Given the description of an element on the screen output the (x, y) to click on. 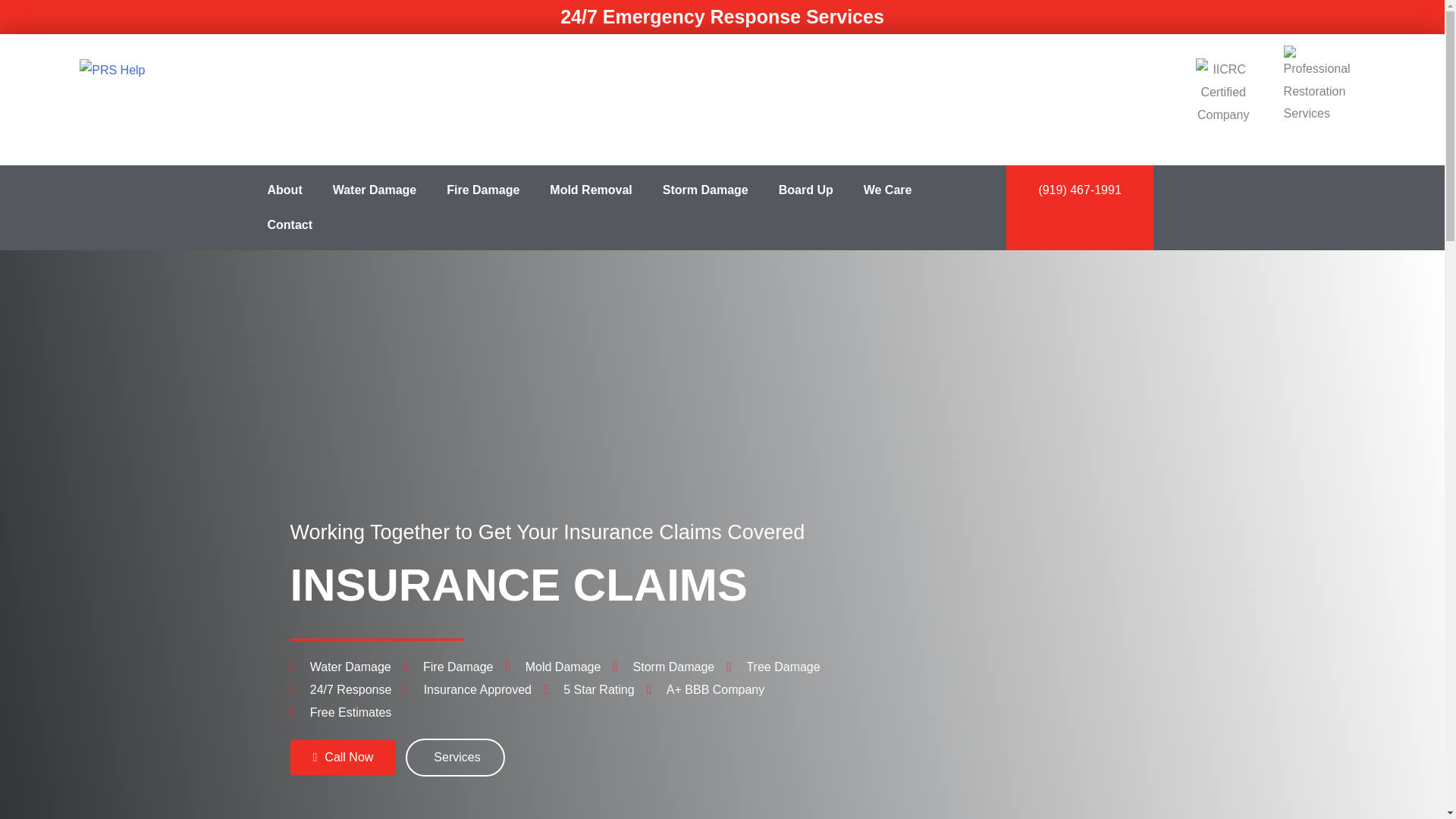
Storm Damage (704, 190)
About (284, 190)
Fire Damage (482, 190)
We Care (887, 190)
Water Damage (374, 190)
Mold Removal (590, 190)
Contact (289, 225)
Board Up (805, 190)
